Given the description of an element on the screen output the (x, y) to click on. 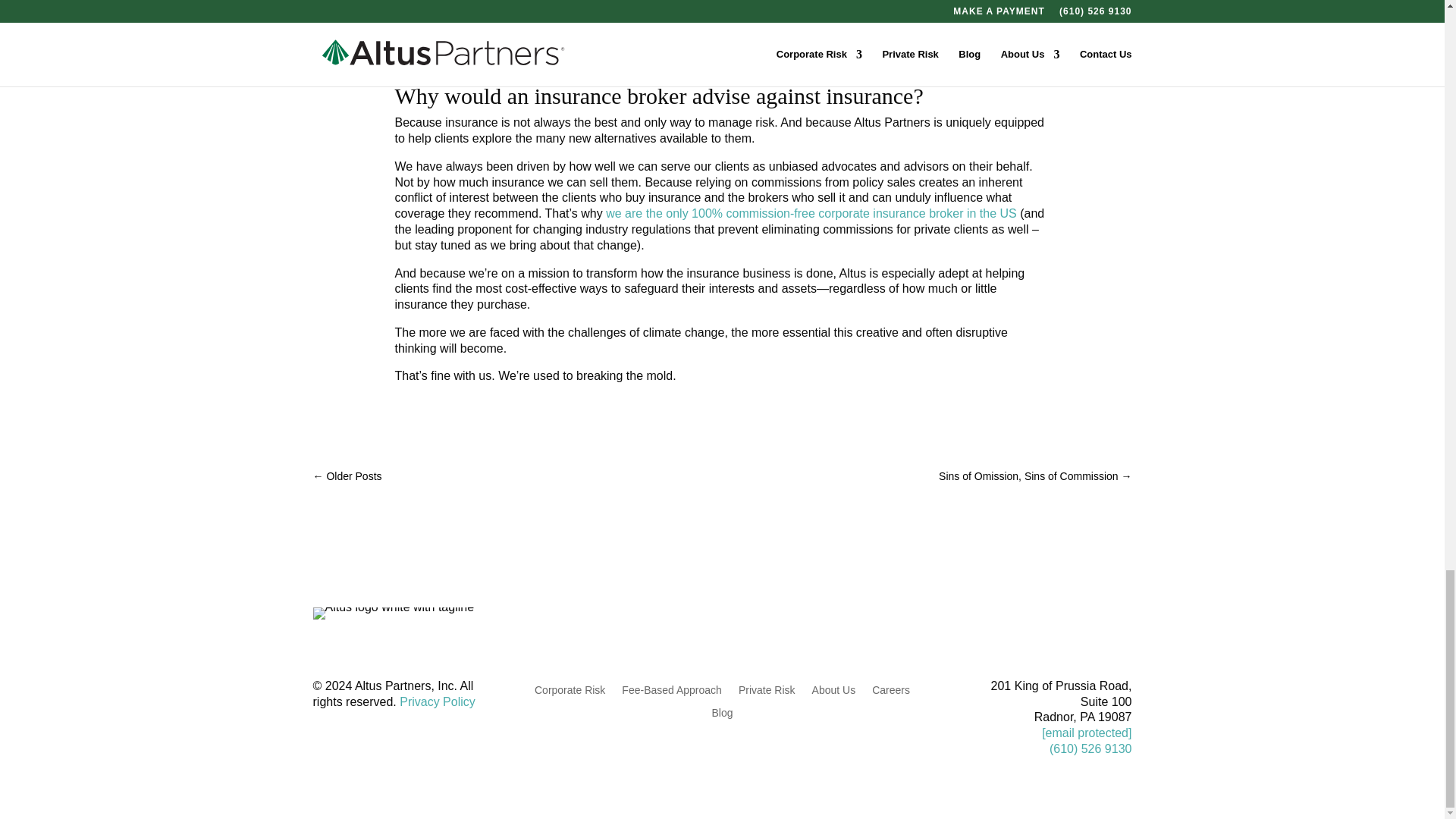
Private Risk (766, 686)
Blog (721, 709)
Corporate Risk (569, 686)
Privacy Policy (437, 701)
About Us (834, 686)
Follow on LinkedIn (1118, 619)
White-Altus Partners Logo-new Tag (393, 613)
Fee-Based Approach (671, 686)
Careers (891, 686)
program that provides grants to homeowners (649, 16)
